Given the description of an element on the screen output the (x, y) to click on. 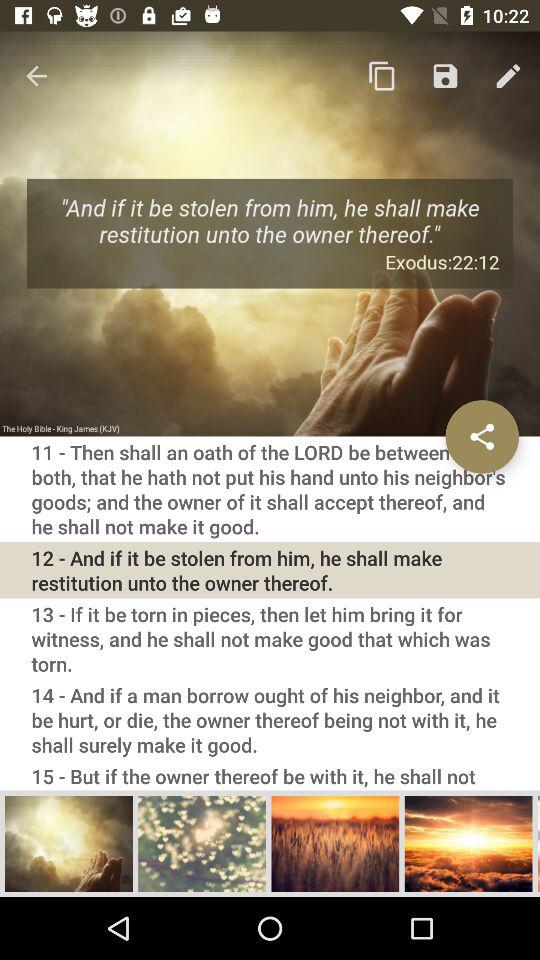
open an image (202, 843)
